Given the description of an element on the screen output the (x, y) to click on. 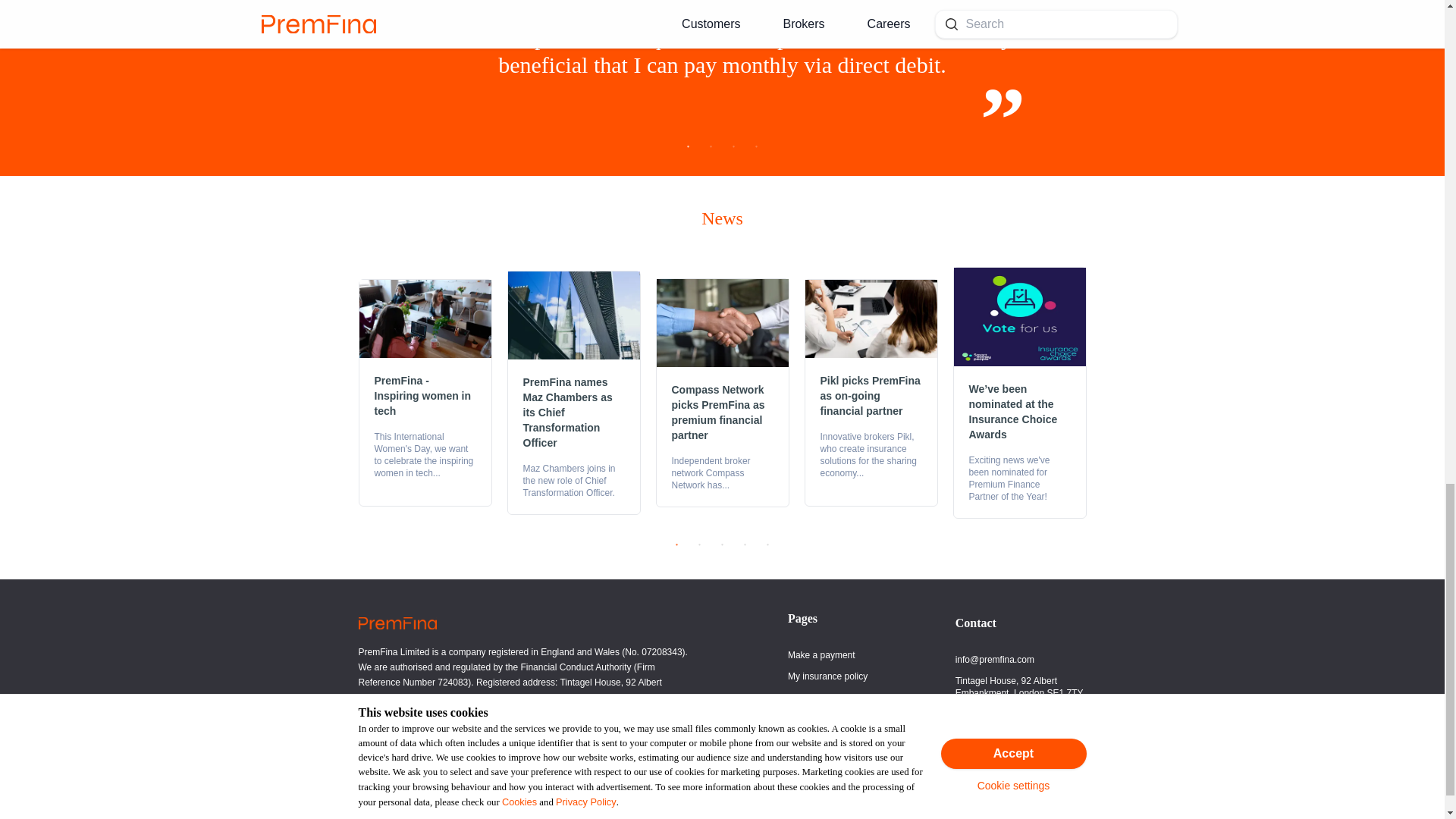
3 (733, 150)
4 (756, 150)
2 (711, 150)
1 (688, 150)
Customer reviews powered by Trustpilot (511, 780)
